Given the description of an element on the screen output the (x, y) to click on. 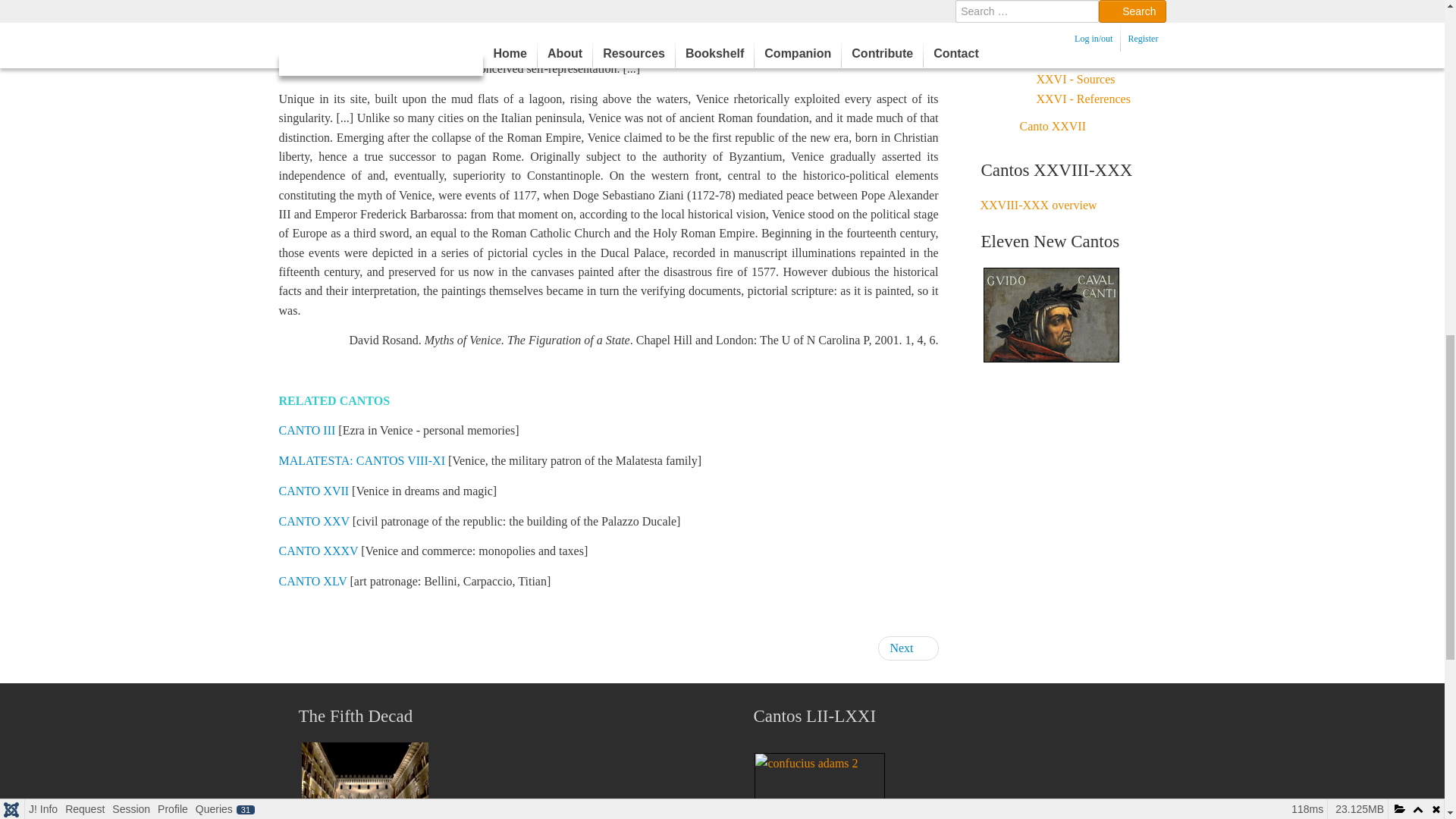
Readings (907, 648)
